Given the description of an element on the screen output the (x, y) to click on. 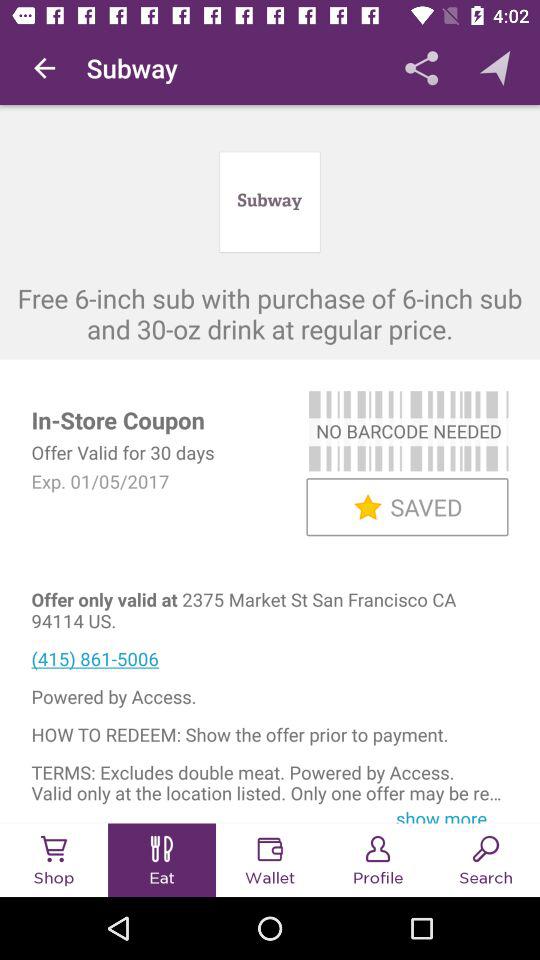
turn off the item to the left of subway app (44, 68)
